Given the description of an element on the screen output the (x, y) to click on. 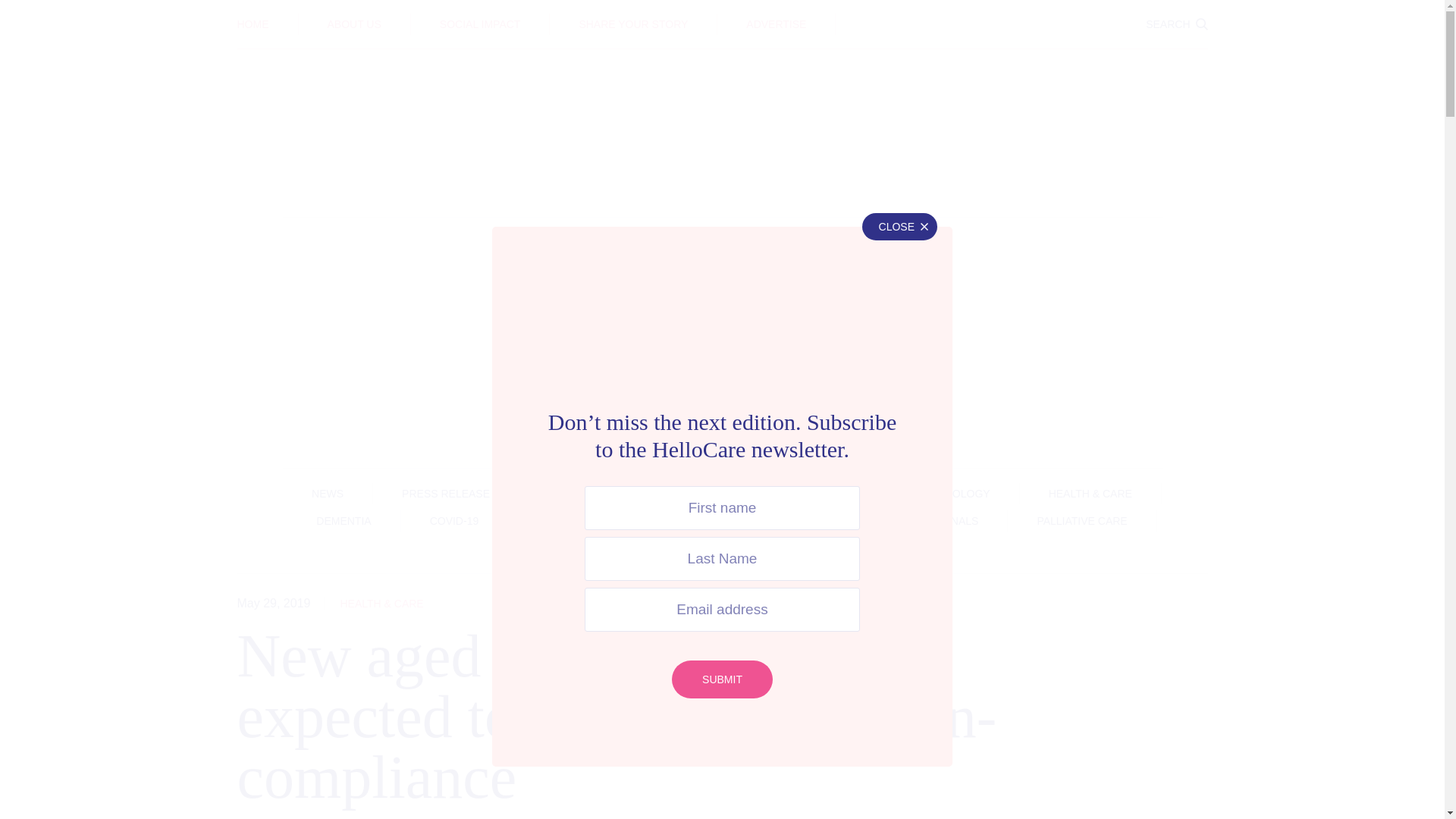
SOCIAL IMPACT (480, 24)
Submit (722, 679)
EDUCATION (721, 13)
HOME (251, 24)
ABOUT US (354, 24)
SEARCH (1176, 24)
SHARE YOUR STORY (632, 24)
ADVERTISE (775, 24)
